Given the description of an element on the screen output the (x, y) to click on. 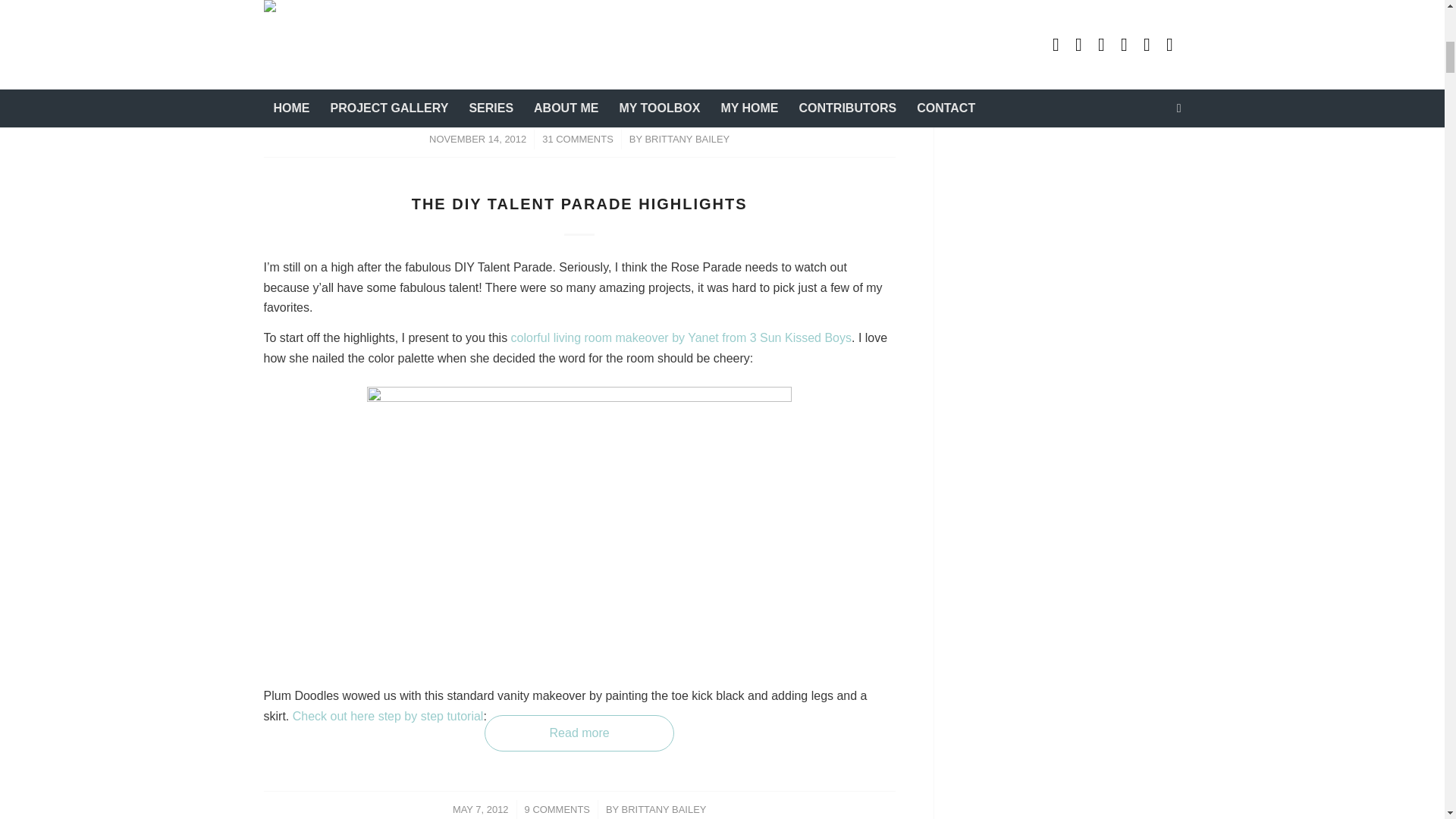
Posts by Brittany Bailey (663, 808)
Permanent Link: The DIY Talent Parade Highlights (580, 203)
Posts by Brittany Bailey (687, 138)
